Given the description of an element on the screen output the (x, y) to click on. 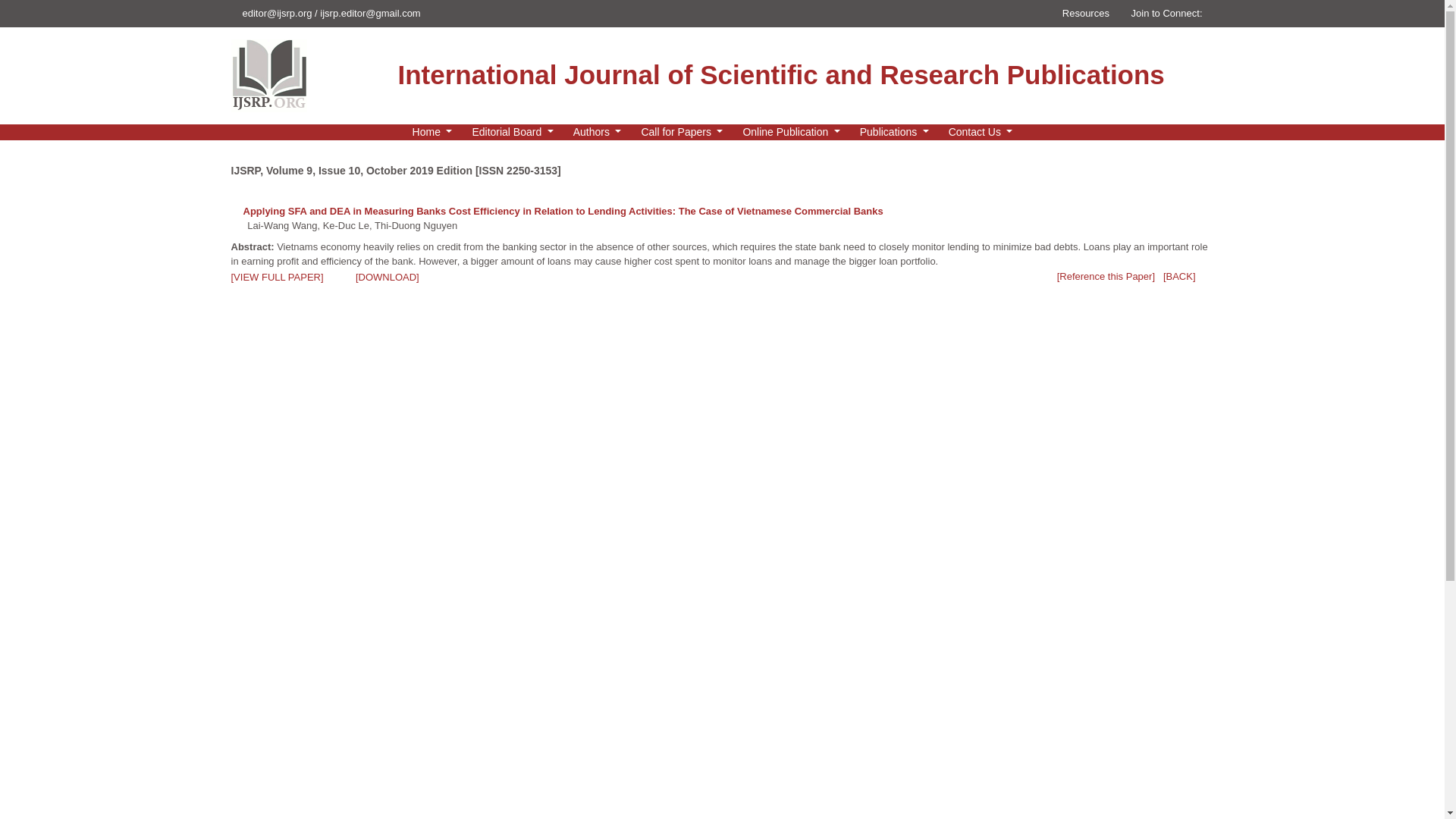
Editorial Board (512, 132)
Join to Connect: (1169, 12)
Resources (1083, 12)
Authors (597, 132)
Online Publication (790, 132)
Publications (893, 132)
Call for Papers (681, 132)
Home (432, 132)
